Given the description of an element on the screen output the (x, y) to click on. 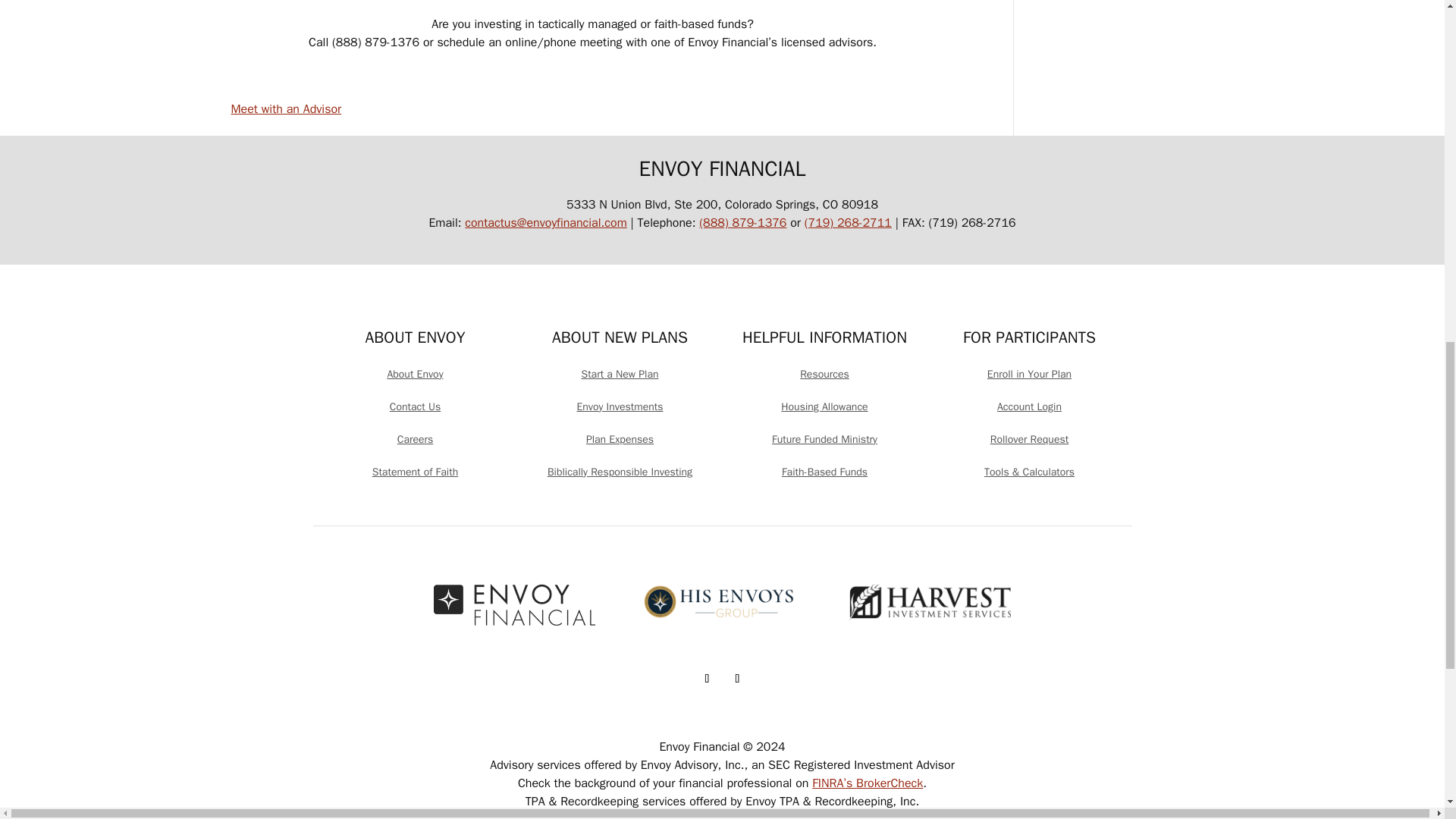
About Envoy (413, 373)
Meet with an Advisor (285, 118)
Follow on Facebook (706, 678)
harvest-greyscale-compressed (929, 601)
Follow on Instagram (737, 678)
ef-greyscale-box (514, 604)
